Given the description of an element on the screen output the (x, y) to click on. 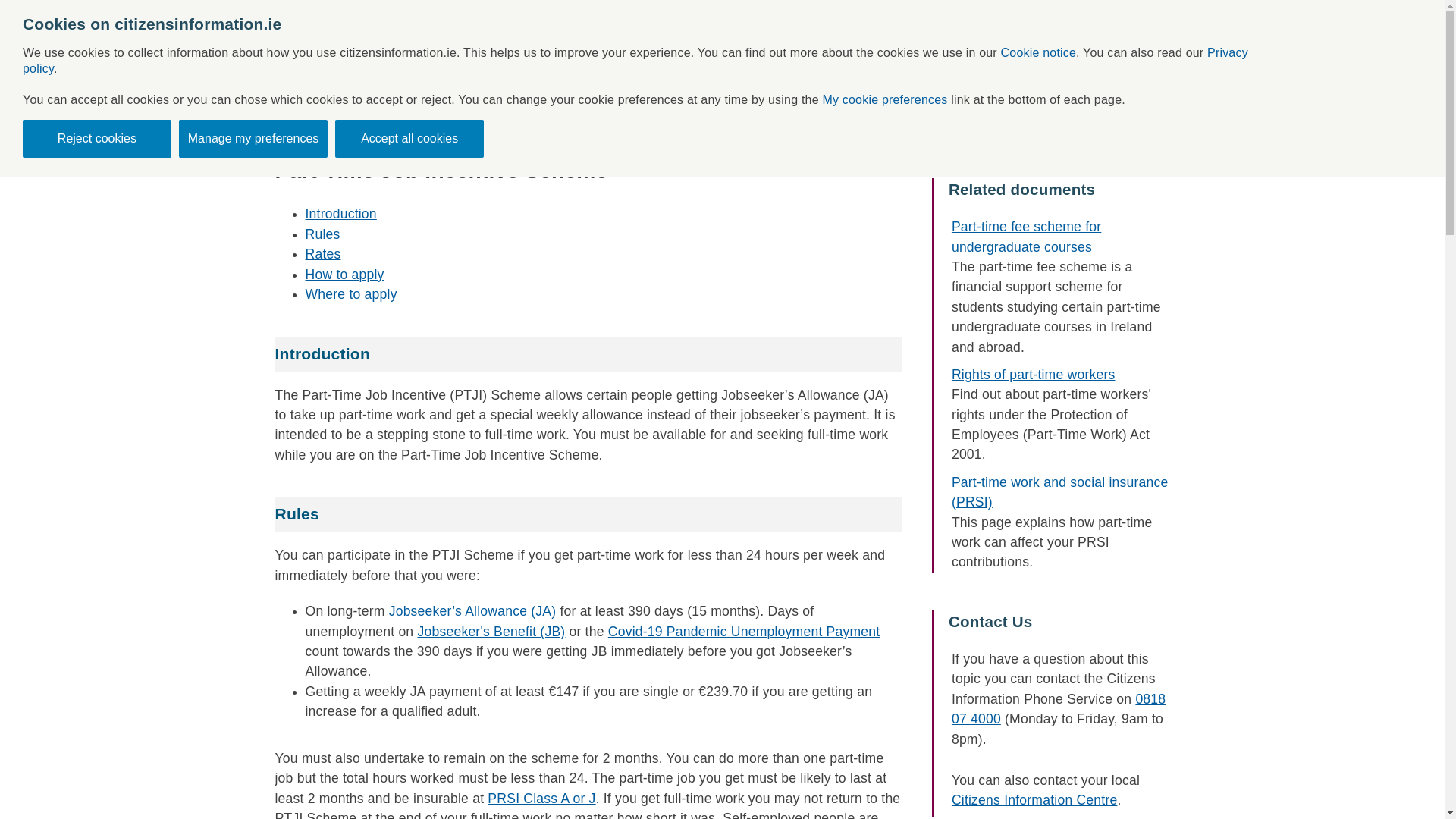
Accept all cookies (408, 138)
Reject cookies (97, 138)
My Situation (812, 45)
Manage my preferences (254, 138)
Categories (608, 45)
My cookie preferences (884, 99)
Gaeilge (1418, 13)
Search (1043, 106)
What's New (707, 45)
Cookie notice (1039, 51)
